Given the description of an element on the screen output the (x, y) to click on. 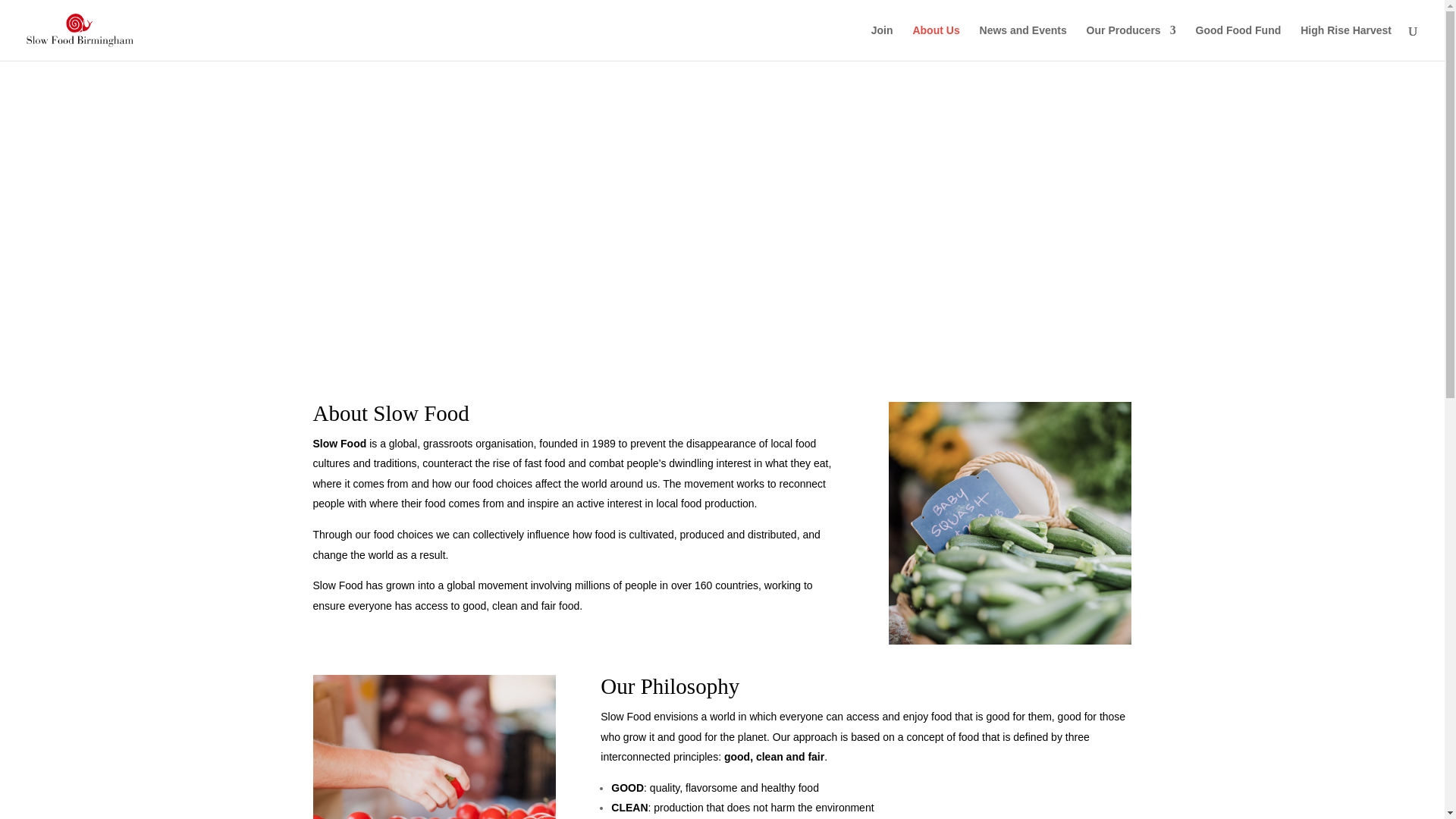
in over 160 countries (708, 585)
News and Events (1023, 42)
Our Producers (1131, 42)
High Rise Harvest (1345, 42)
About Us (935, 42)
Good Food Fund (1238, 42)
good, clean and fair food. (522, 605)
produce-29 (1009, 523)
produce-03 (433, 746)
